Given the description of an element on the screen output the (x, y) to click on. 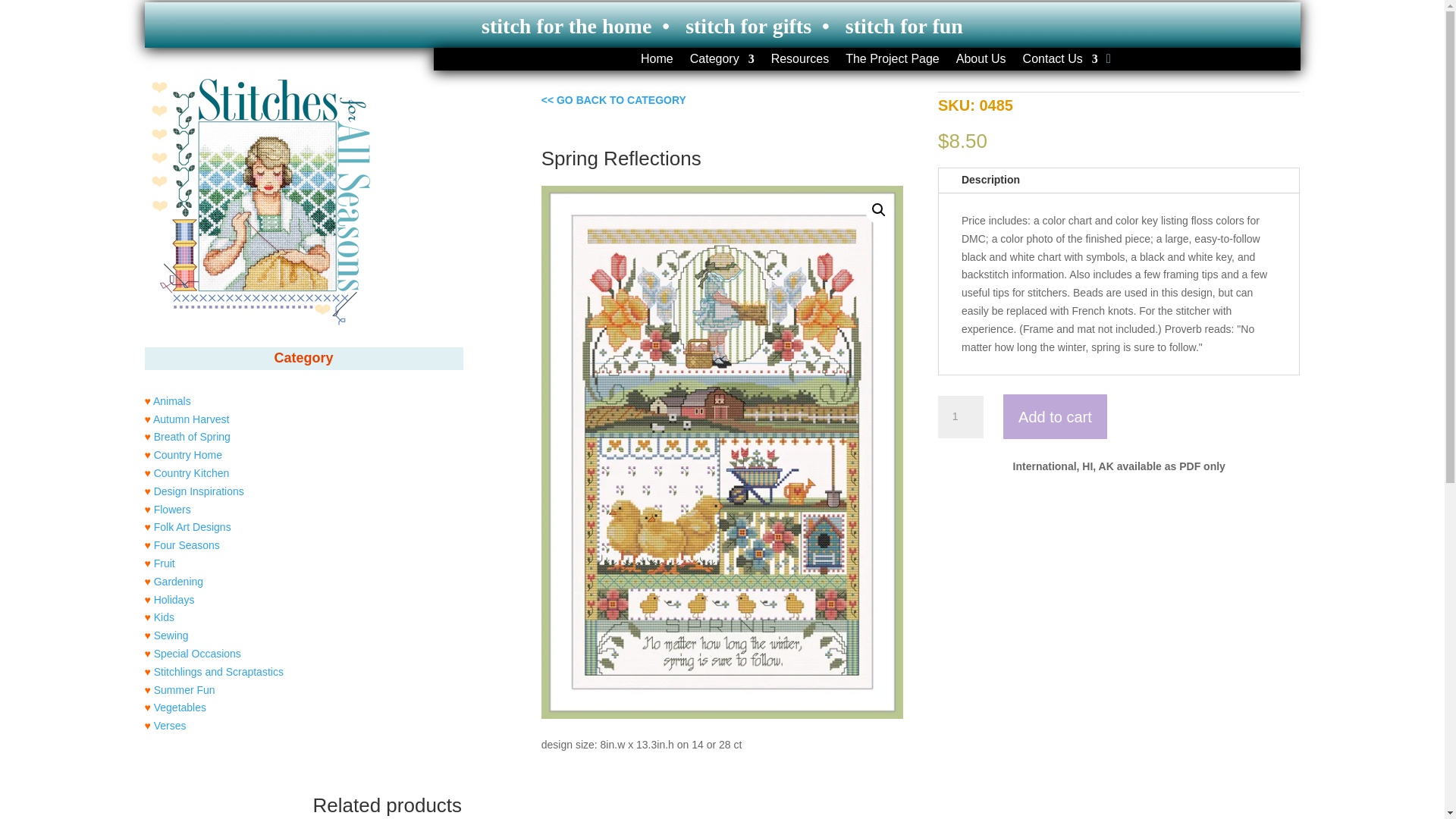
The Project Page (892, 62)
Resources (799, 62)
About Us (981, 62)
Home (656, 62)
Category (722, 62)
logo300P (257, 202)
1 (960, 416)
Contact Us (1060, 62)
